Given the description of an element on the screen output the (x, y) to click on. 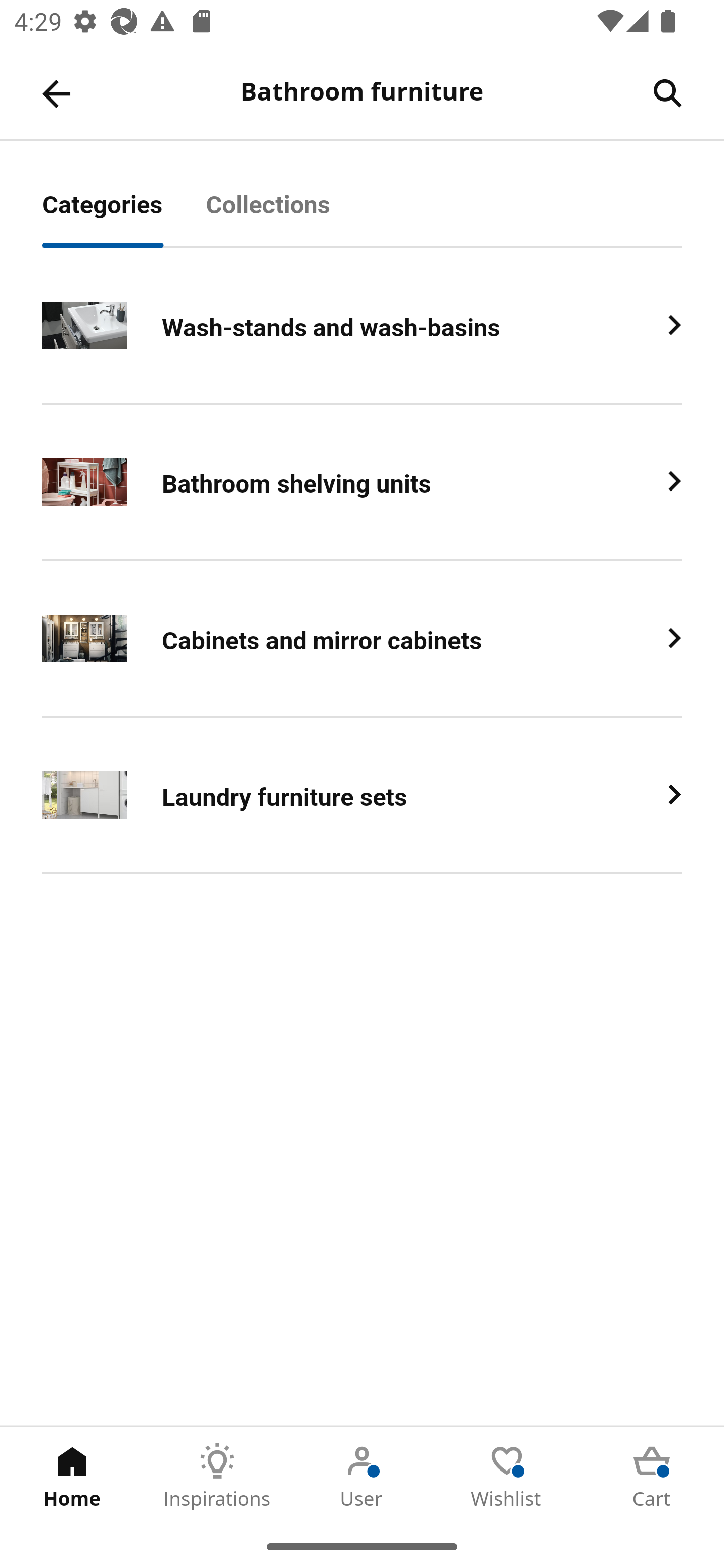
Wash-stands and wash-basins (361, 325)
Bathroom shelving units (361, 482)
Cabinets and mirror cabinets (361, 639)
Laundry furniture sets (361, 796)
Home
Tab 1 of 5 (72, 1476)
Inspirations
Tab 2 of 5 (216, 1476)
User
Tab 3 of 5 (361, 1476)
Wishlist
Tab 4 of 5 (506, 1476)
Cart
Tab 5 of 5 (651, 1476)
